Given the description of an element on the screen output the (x, y) to click on. 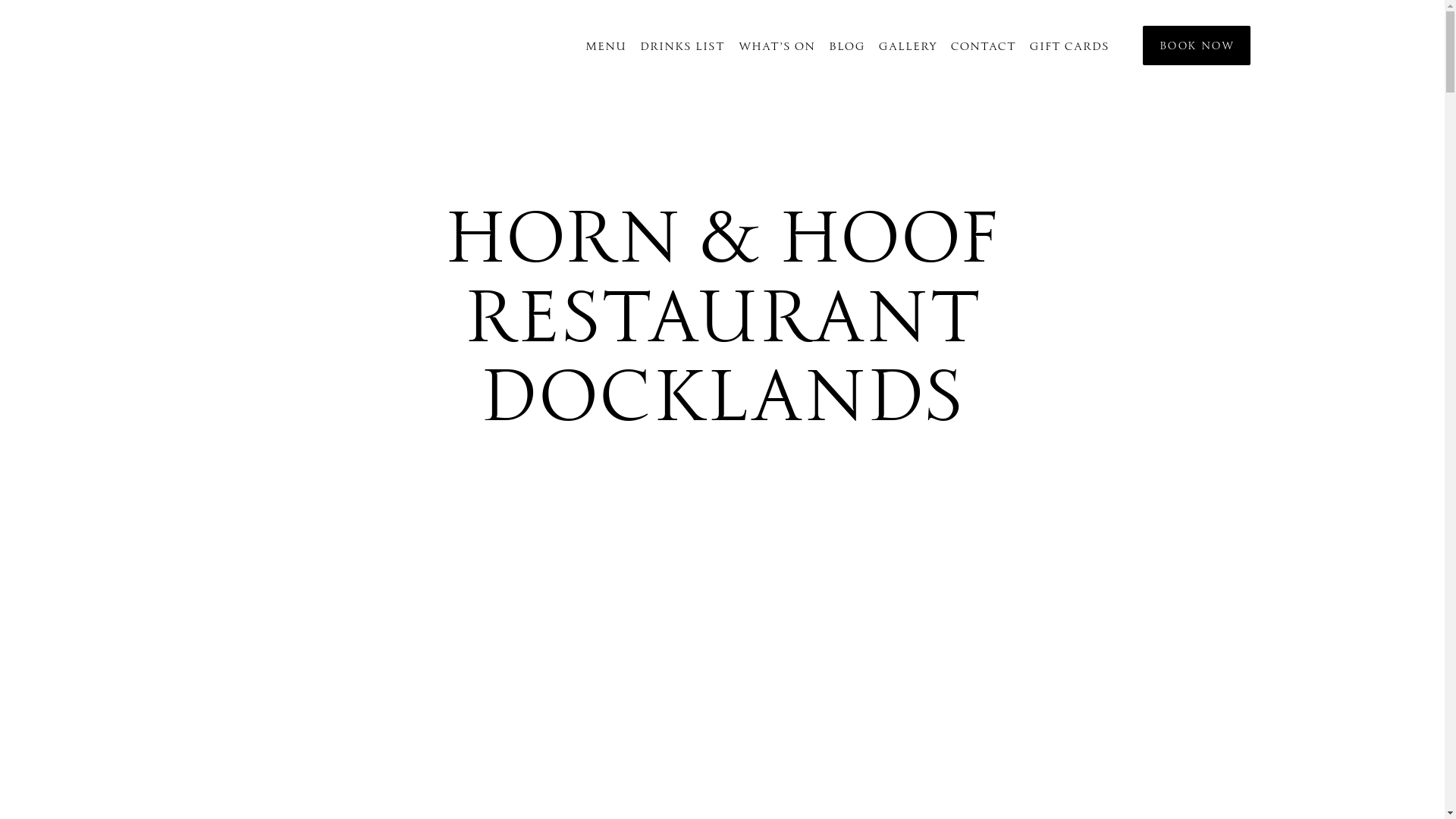
BLOG Element type: text (846, 45)
CONTACT Element type: text (983, 45)
BOOK NOW Element type: text (1196, 45)
MENU Element type: text (605, 45)
GALLERY Element type: text (907, 45)
Dining Gift Card Element type: text (1019, 52)
GIFT CARDS Element type: text (1069, 45)
BUY GIFT CARD Element type: text (173, 89)
Deer-Logo-Elena-Edti-Castellar-Font-scaled Element type: hover (202, 45)
DRINKS LIST Element type: text (682, 45)
